Given the description of an element on the screen output the (x, y) to click on. 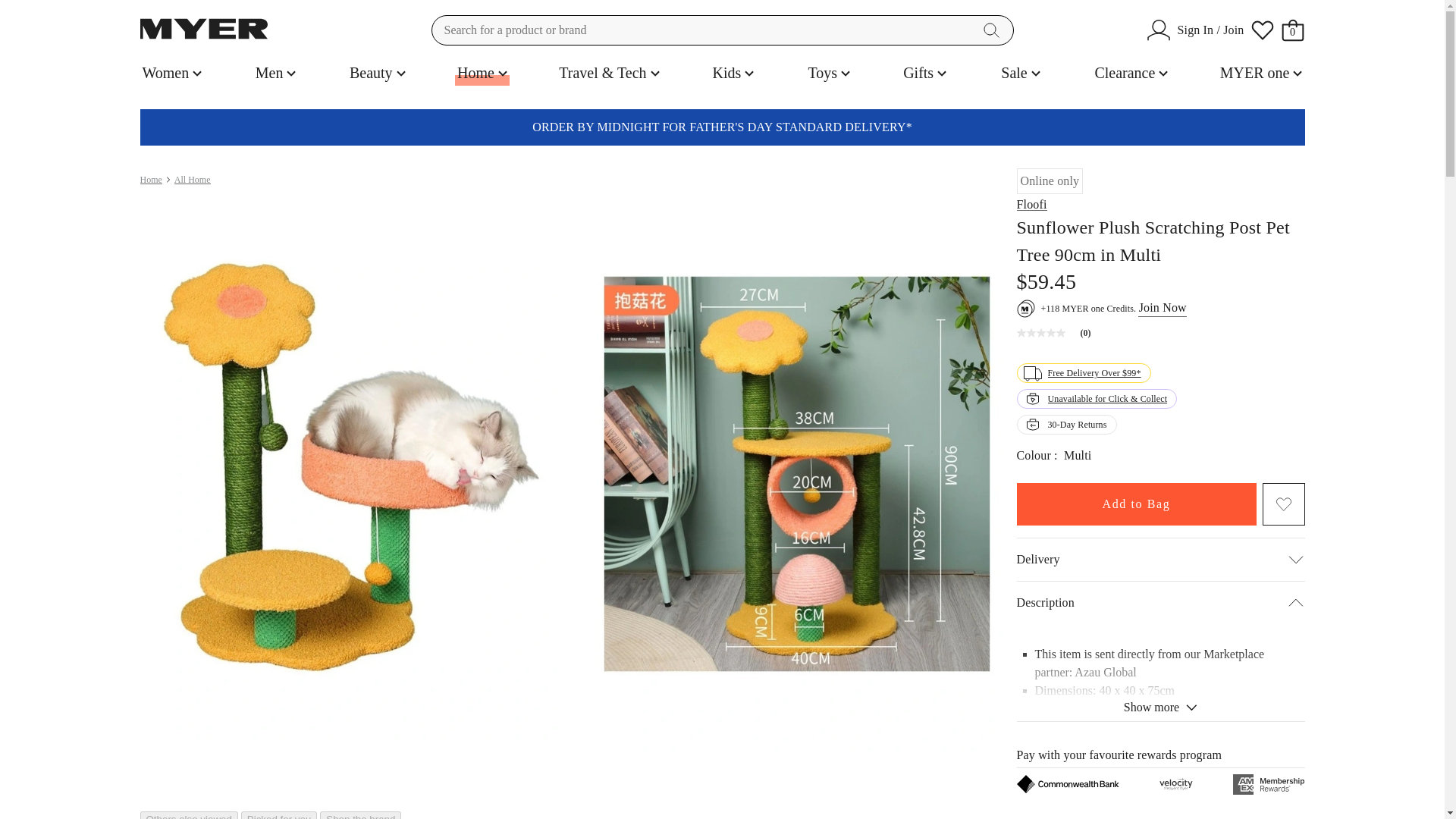
Add to Bag (1135, 504)
Clearance (1131, 72)
Join Now (1162, 307)
Men (275, 72)
Floofi (1031, 204)
Description (1160, 602)
Beauty (377, 72)
Kids (733, 72)
30-Day Returns (1066, 424)
Gifts (925, 72)
